Given the description of an element on the screen output the (x, y) to click on. 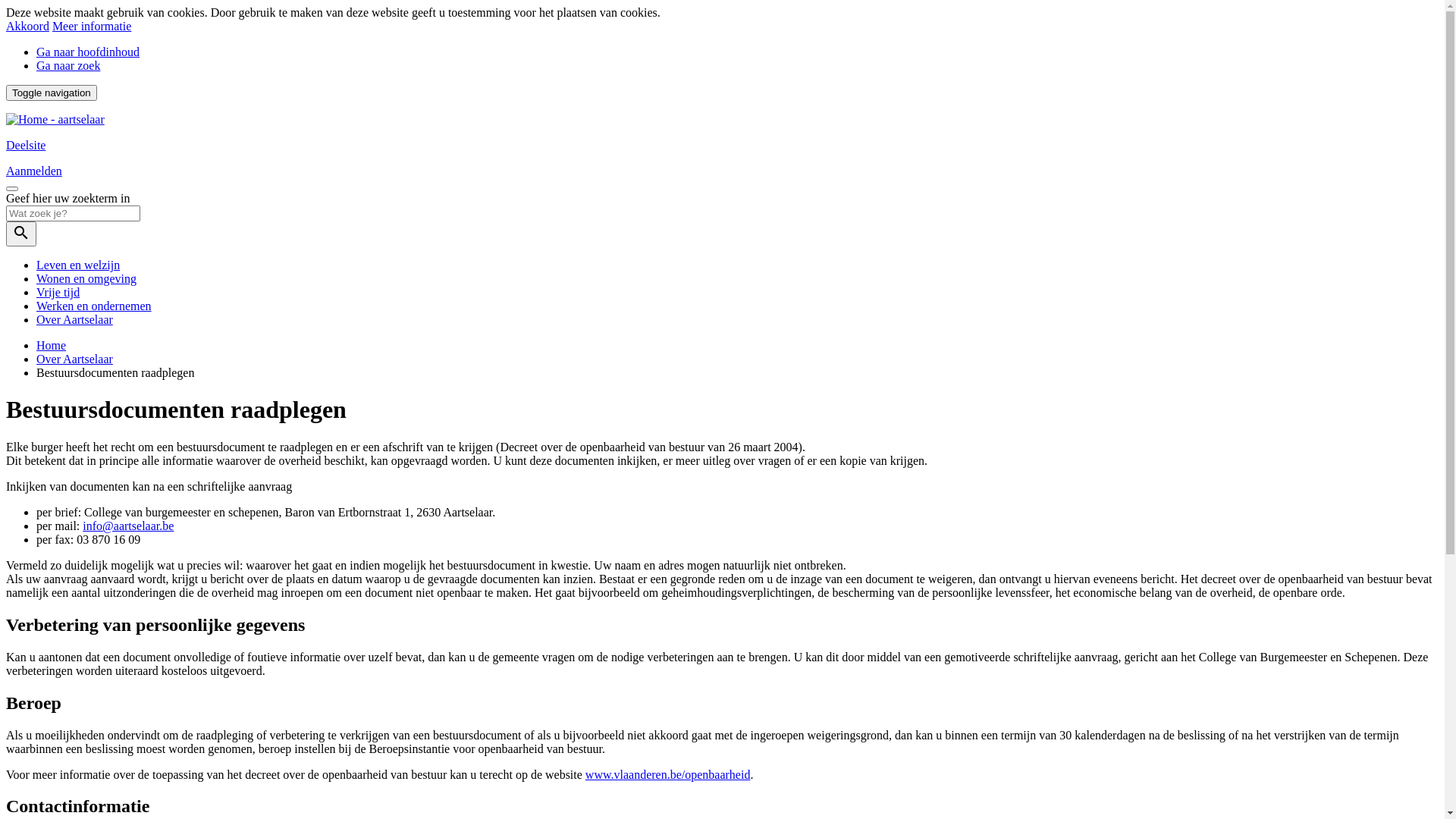
Vrije tijd Element type: text (57, 291)
Over Aartselaar Element type: text (74, 358)
Ga naar zoek Element type: text (68, 65)
Leven en welzijn Element type: text (77, 264)
Werken en ondernemen Element type: text (93, 305)
Meer informatie Element type: text (91, 25)
Ga naar de startpagina Element type: hover (55, 118)
Akkoord Element type: text (27, 25)
info@aartselaar.be Element type: text (127, 525)
Ga naar hoofdinhoud Element type: text (87, 51)
Toggle navigation Element type: text (51, 92)
search Element type: text (21, 233)
Deelsite Element type: text (25, 144)
Wonen en omgeving Element type: text (86, 278)
Home Element type: text (50, 344)
Aanmelden Element type: text (34, 170)
Over Aartselaar Element type: text (74, 319)
www.vlaanderen.be/openbaarheid Element type: text (667, 773)
